Given the description of an element on the screen output the (x, y) to click on. 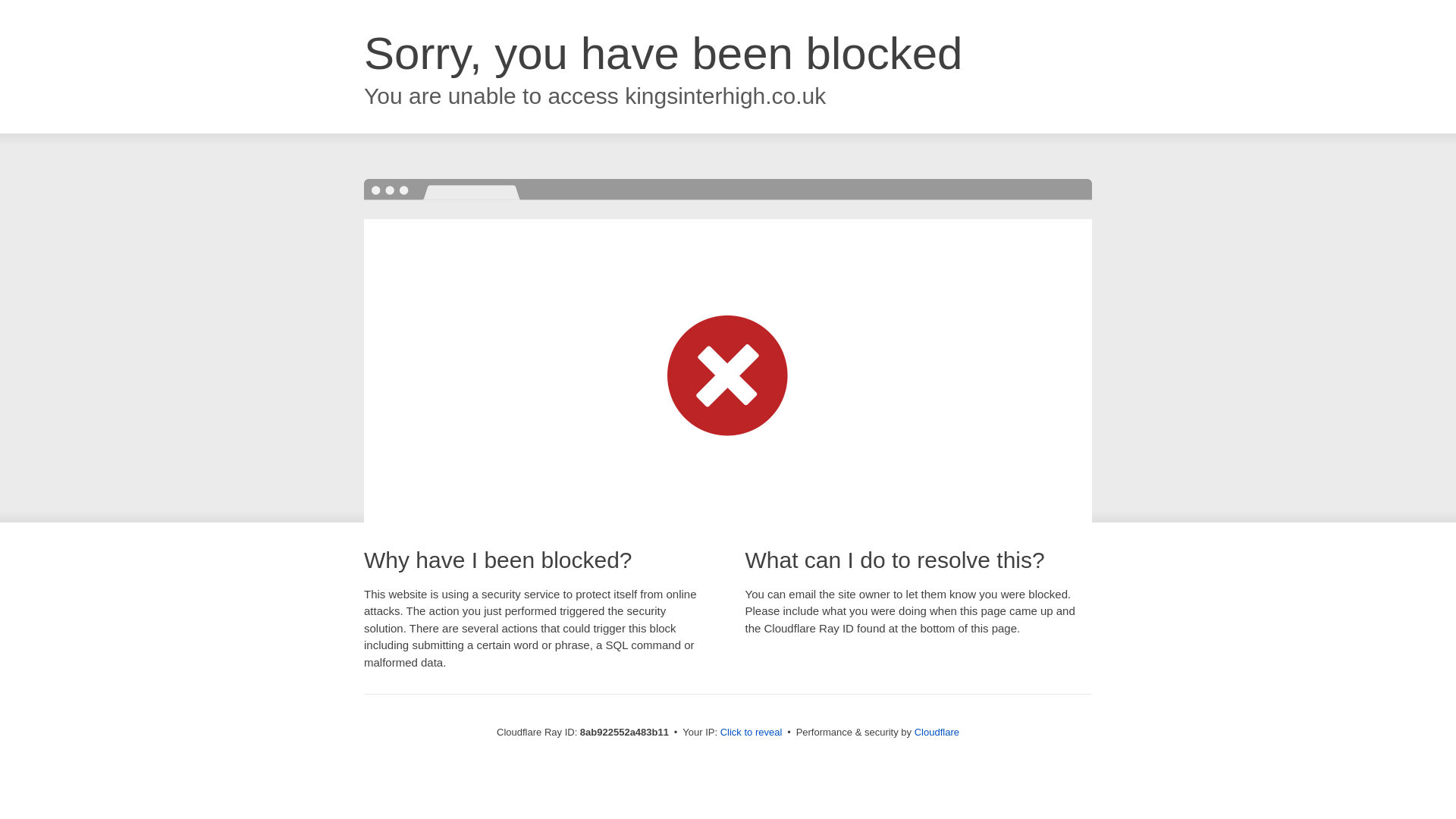
Click to reveal (751, 732)
Cloudflare (936, 731)
